Given the description of an element on the screen output the (x, y) to click on. 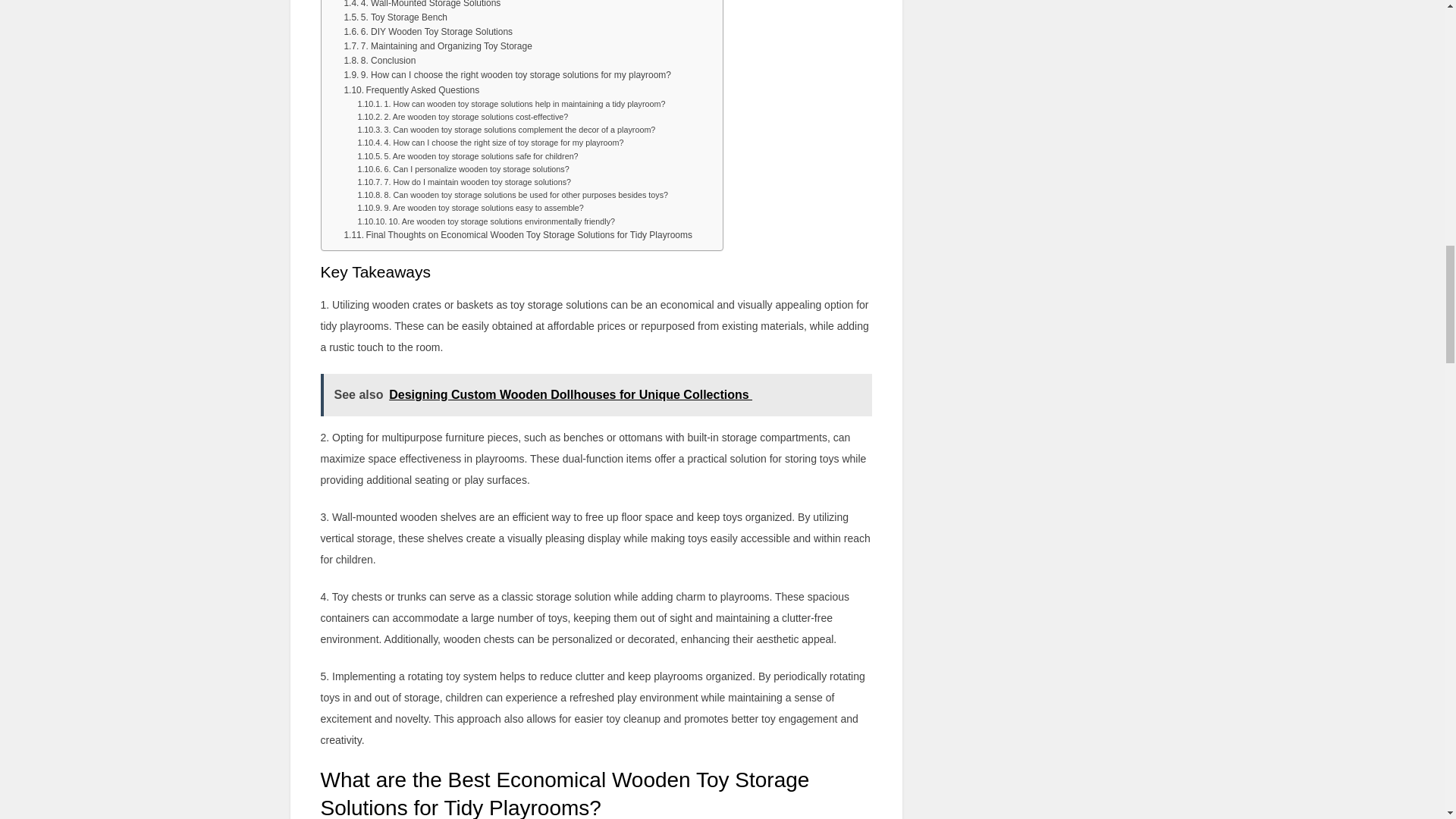
7. Maintaining and Organizing Toy Storage (437, 46)
7. Maintaining and Organizing Toy Storage (437, 46)
Frequently Asked Questions (411, 90)
5. Toy Storage Bench (394, 17)
4. Wall-Mounted Storage Solutions (421, 5)
5. Toy Storage Bench (394, 17)
2. Are wooden toy storage solutions cost-effective? (461, 116)
